Given the description of an element on the screen output the (x, y) to click on. 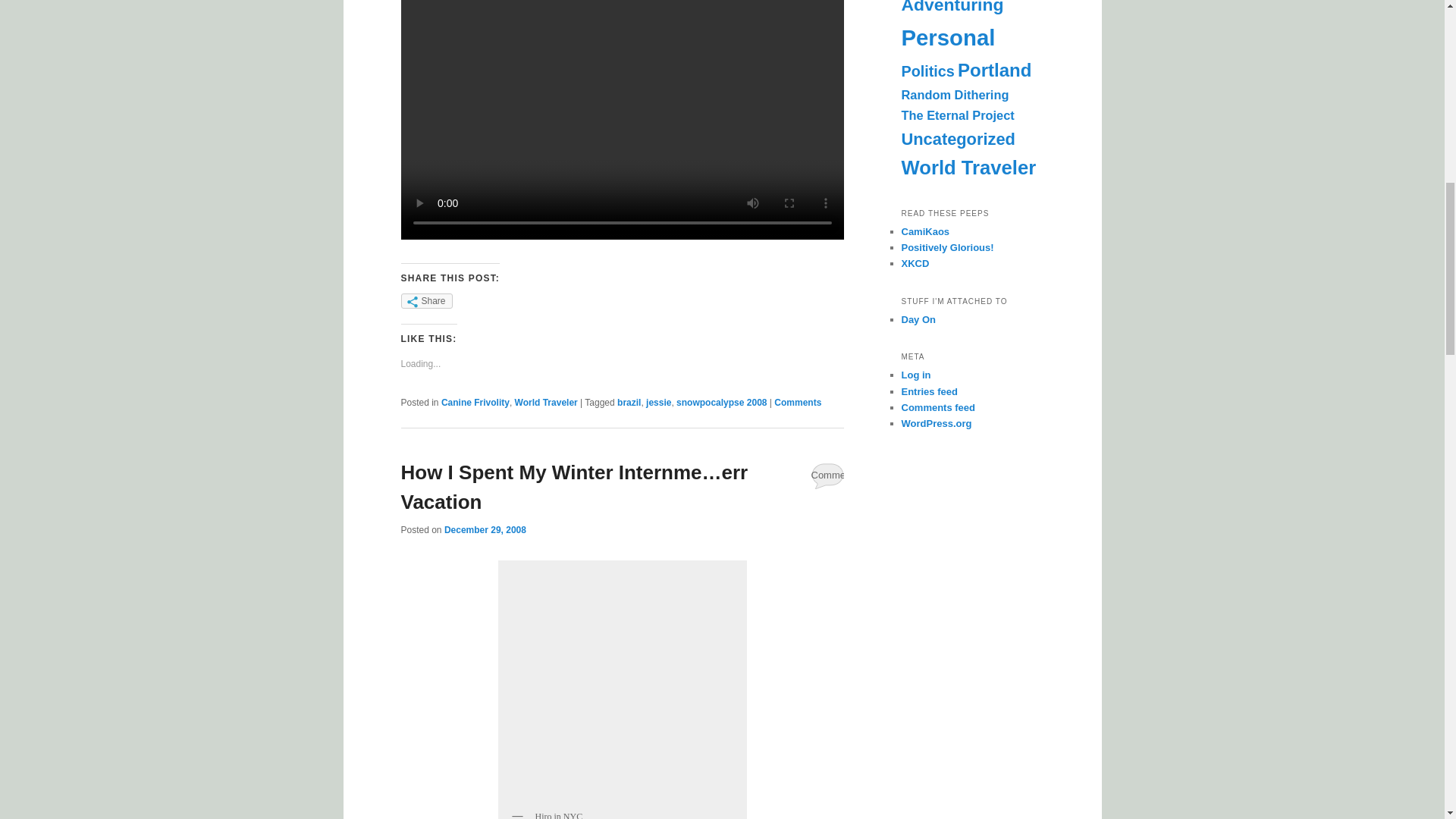
snowpocalypse 2008 (722, 402)
jessie (658, 402)
World Traveler (546, 402)
Comments (797, 402)
December 29, 2008 (484, 529)
Heroes (622, 684)
John Metta.  Nice guy, or underpants spy? (946, 247)
Comments (827, 474)
2:43 pm (484, 529)
